Given the description of an element on the screen output the (x, y) to click on. 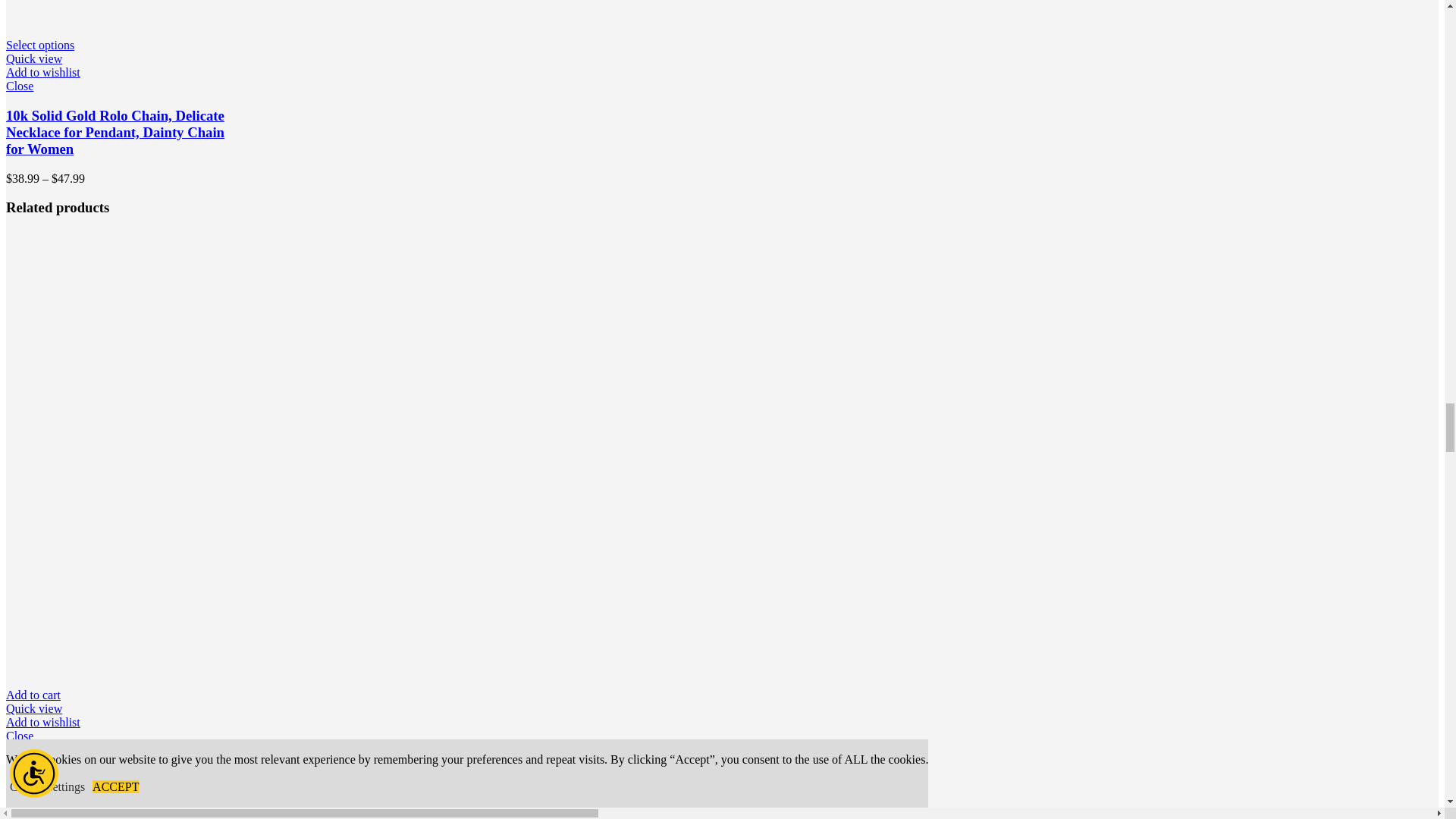
Close (121, 86)
Close (121, 735)
